Given the description of an element on the screen output the (x, y) to click on. 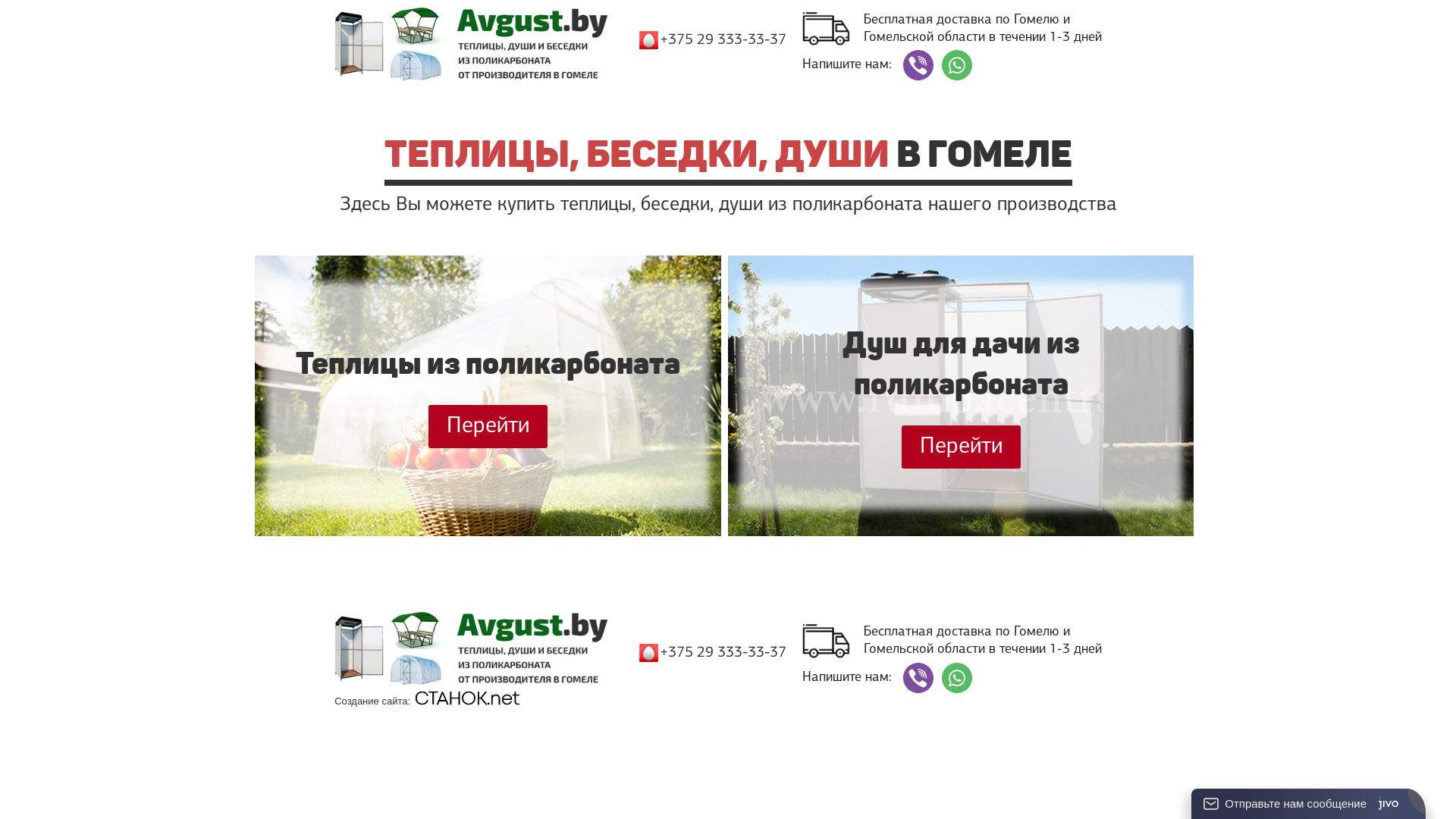
+375 29 333-33-37 Element type: text (722, 40)
+375 29 333-33-37 Element type: text (722, 652)
